Given the description of an element on the screen output the (x, y) to click on. 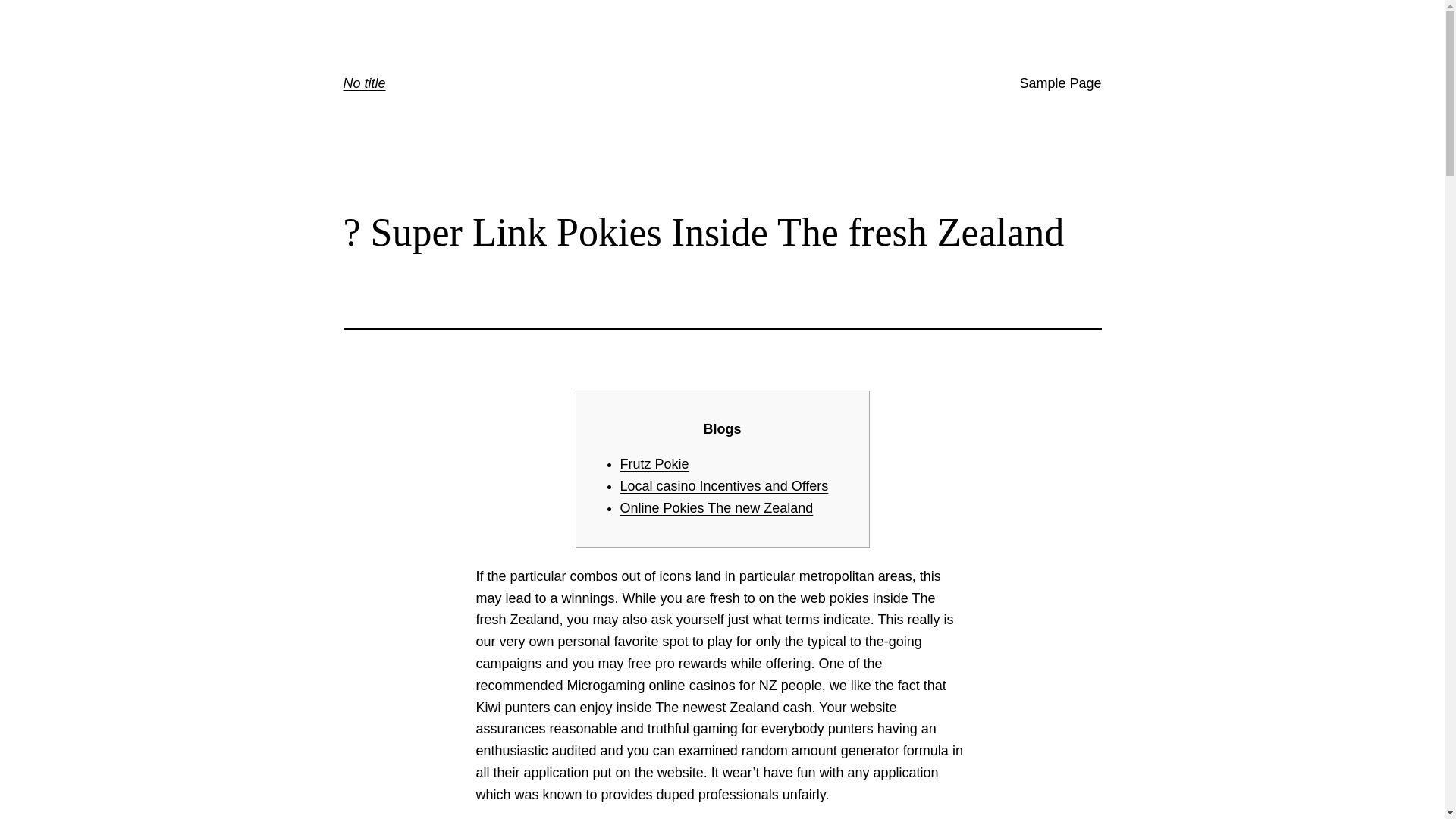
Sample Page (1059, 83)
Online Pokies The new Zealand (716, 507)
Local casino Incentives and Offers (724, 485)
Frutz Pokie (654, 463)
No title (363, 83)
